Given the description of an element on the screen output the (x, y) to click on. 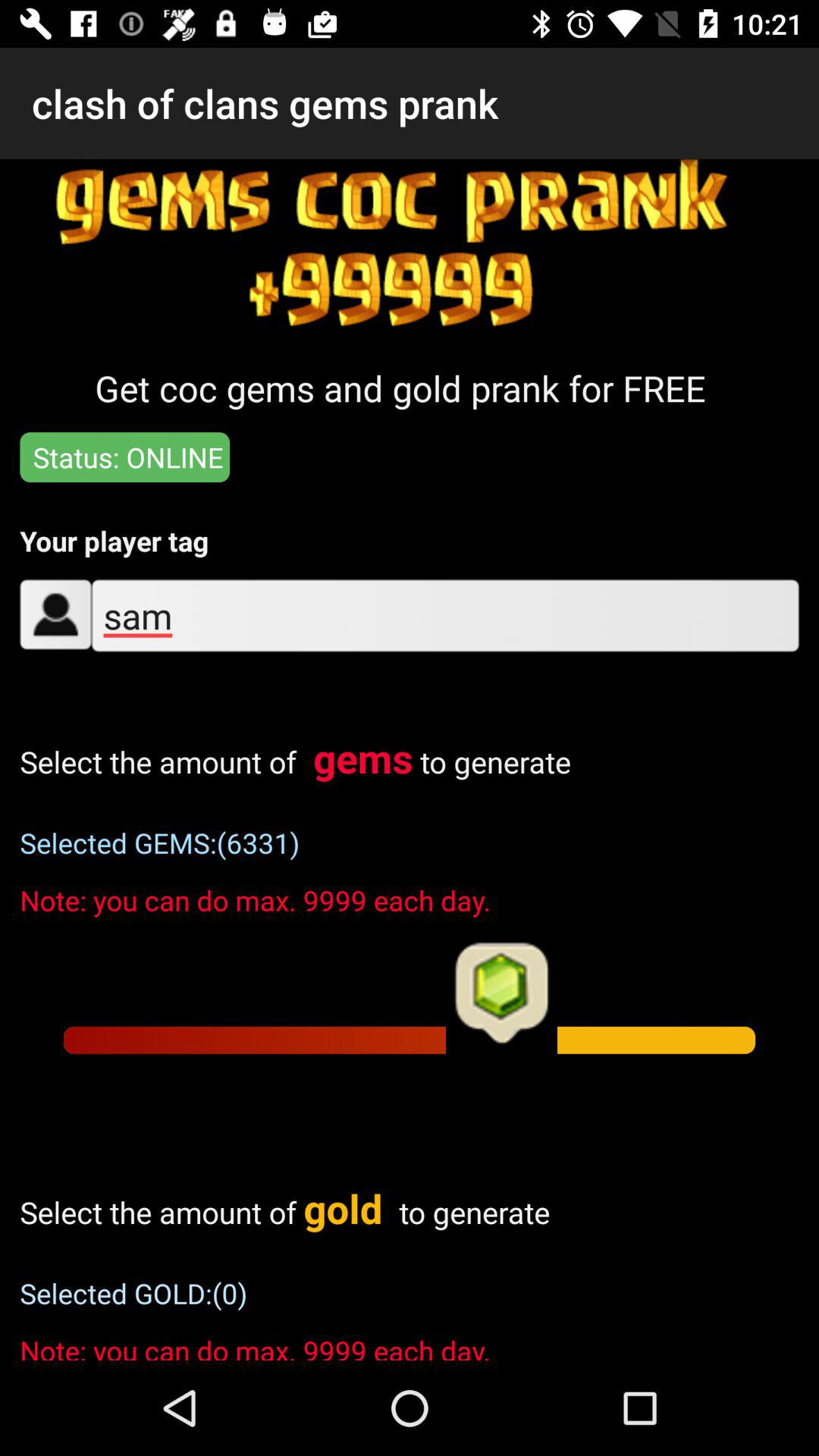
flip until the sam icon (445, 615)
